Given the description of an element on the screen output the (x, y) to click on. 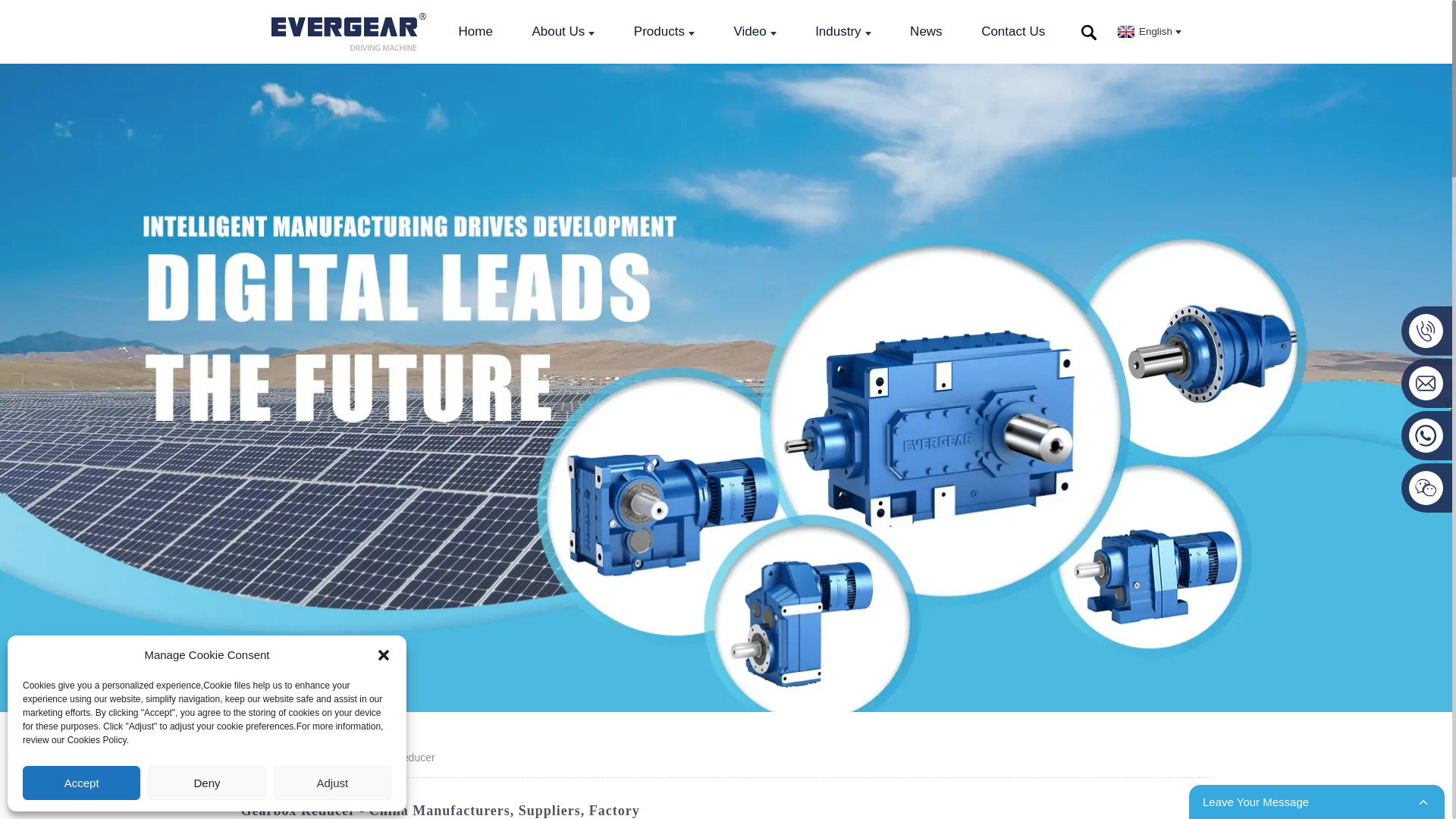
About Us (563, 31)
Video (754, 31)
Products (663, 31)
Industry (842, 31)
